Given the description of an element on the screen output the (x, y) to click on. 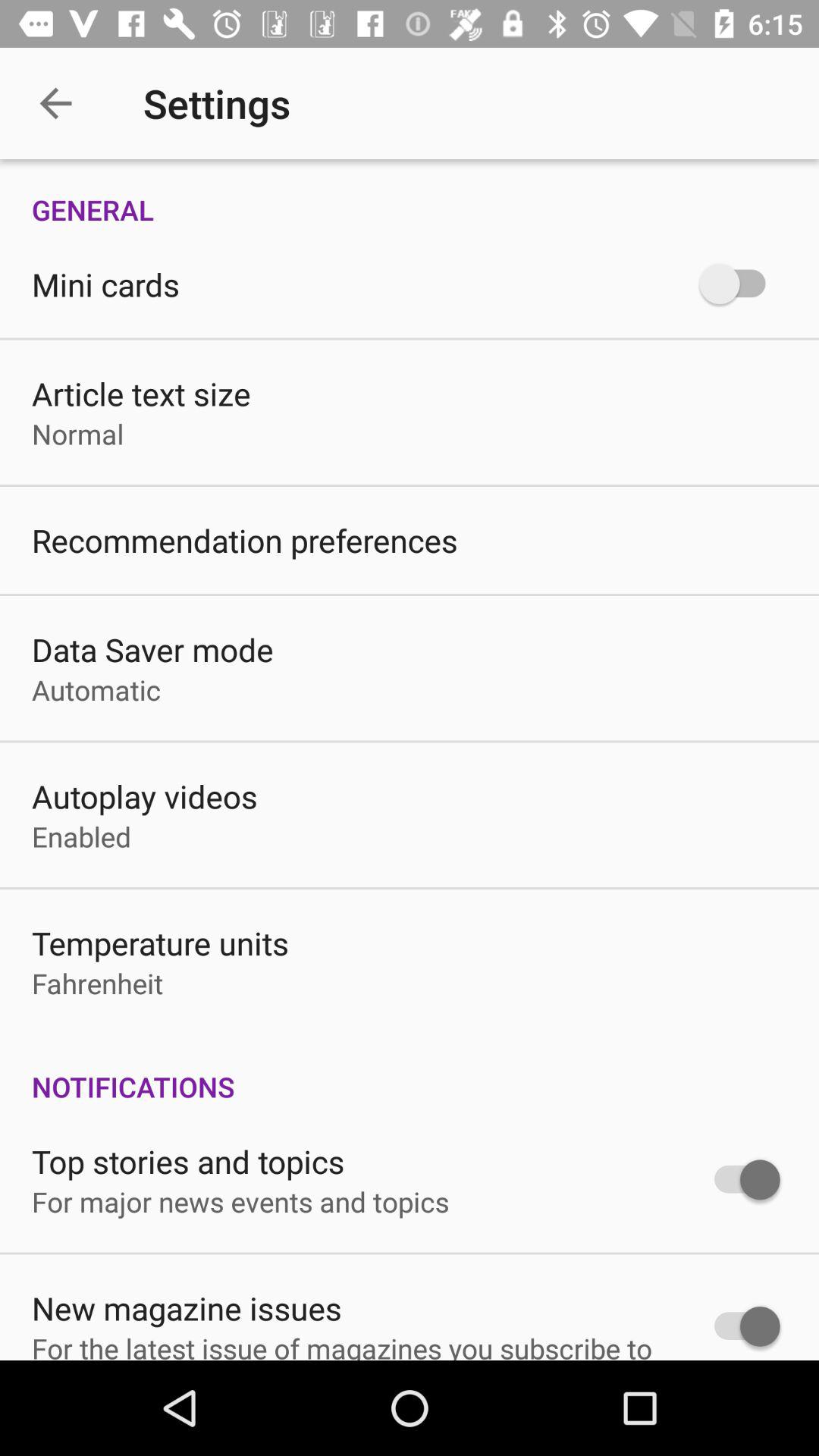
click item next to the settings icon (55, 103)
